Given the description of an element on the screen output the (x, y) to click on. 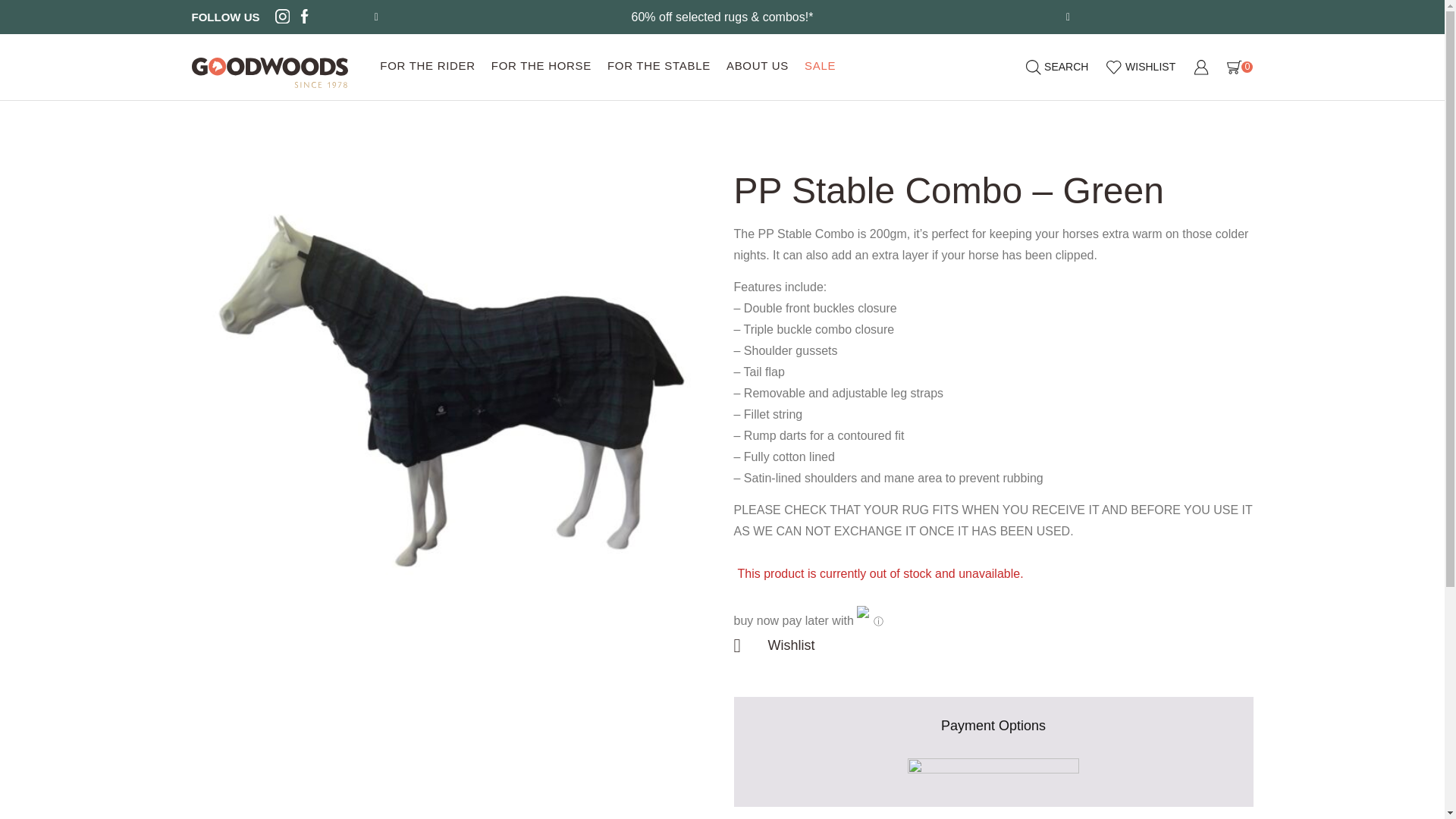
Instagram (282, 17)
FOR THE HORSE (540, 66)
FOR THE RIDER (427, 66)
Facebook (305, 17)
